Given the description of an element on the screen output the (x, y) to click on. 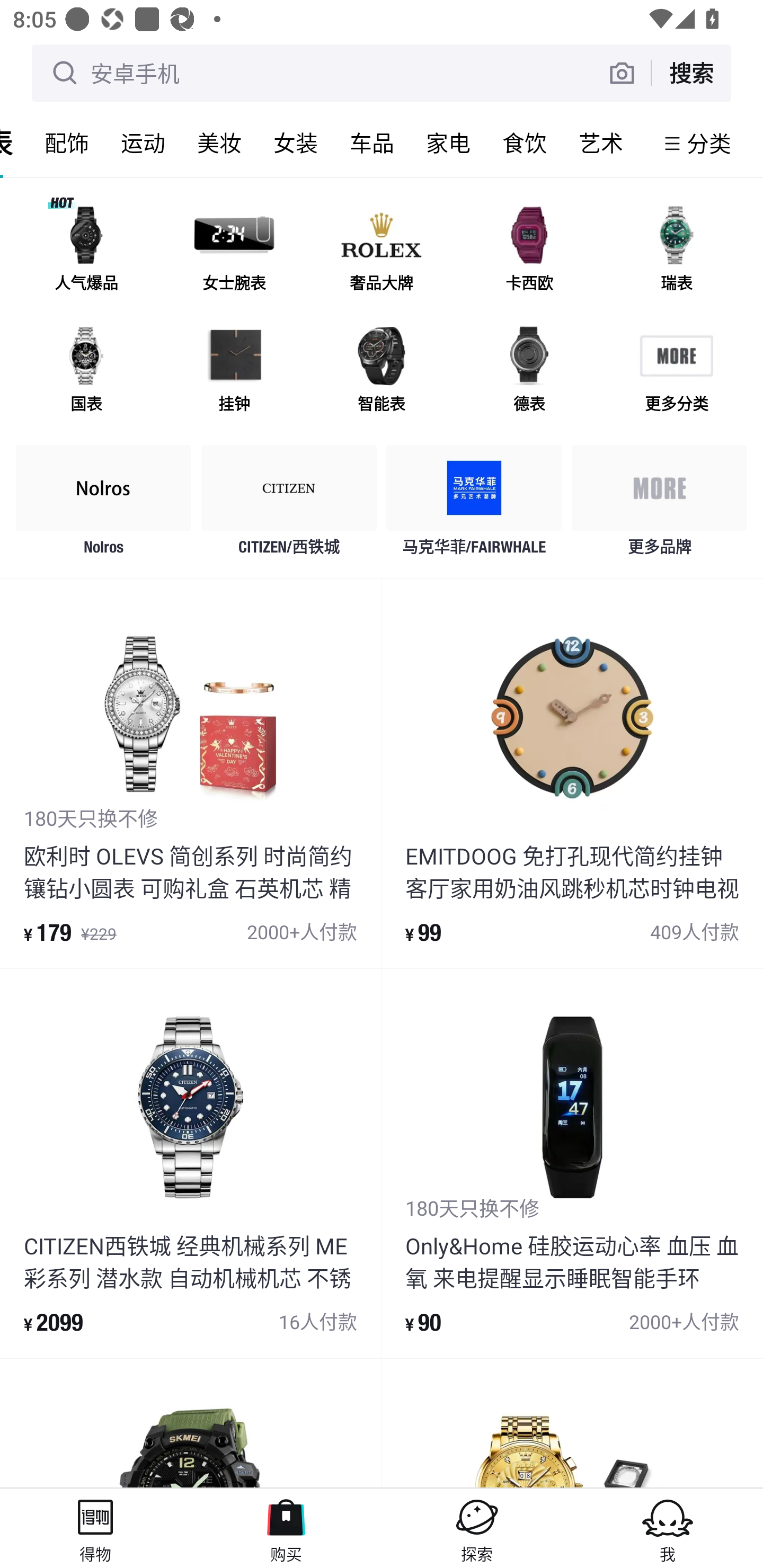
搜索 (690, 72)
配饰 (66, 143)
运动 (143, 143)
美妆 (219, 143)
女装 (295, 143)
车品 (372, 143)
家电 (448, 143)
食饮 (524, 143)
艺术 (601, 143)
分类 (708, 143)
人气爆品 (86, 251)
女士腕表 (233, 251)
奢品大牌 (381, 251)
卡西欧 (528, 251)
瑞表 (676, 251)
国表 (86, 372)
挂钟 (233, 372)
智能表 (381, 372)
德表 (528, 372)
更多分类 (676, 372)
Nolros (103, 505)
CITIZEN/西铁城 (288, 505)
马克华菲/FAIRWHALE (473, 505)
更多品牌 (658, 505)
得物 (95, 1528)
购买 (285, 1528)
探索 (476, 1528)
我 (667, 1528)
